Given the description of an element on the screen output the (x, y) to click on. 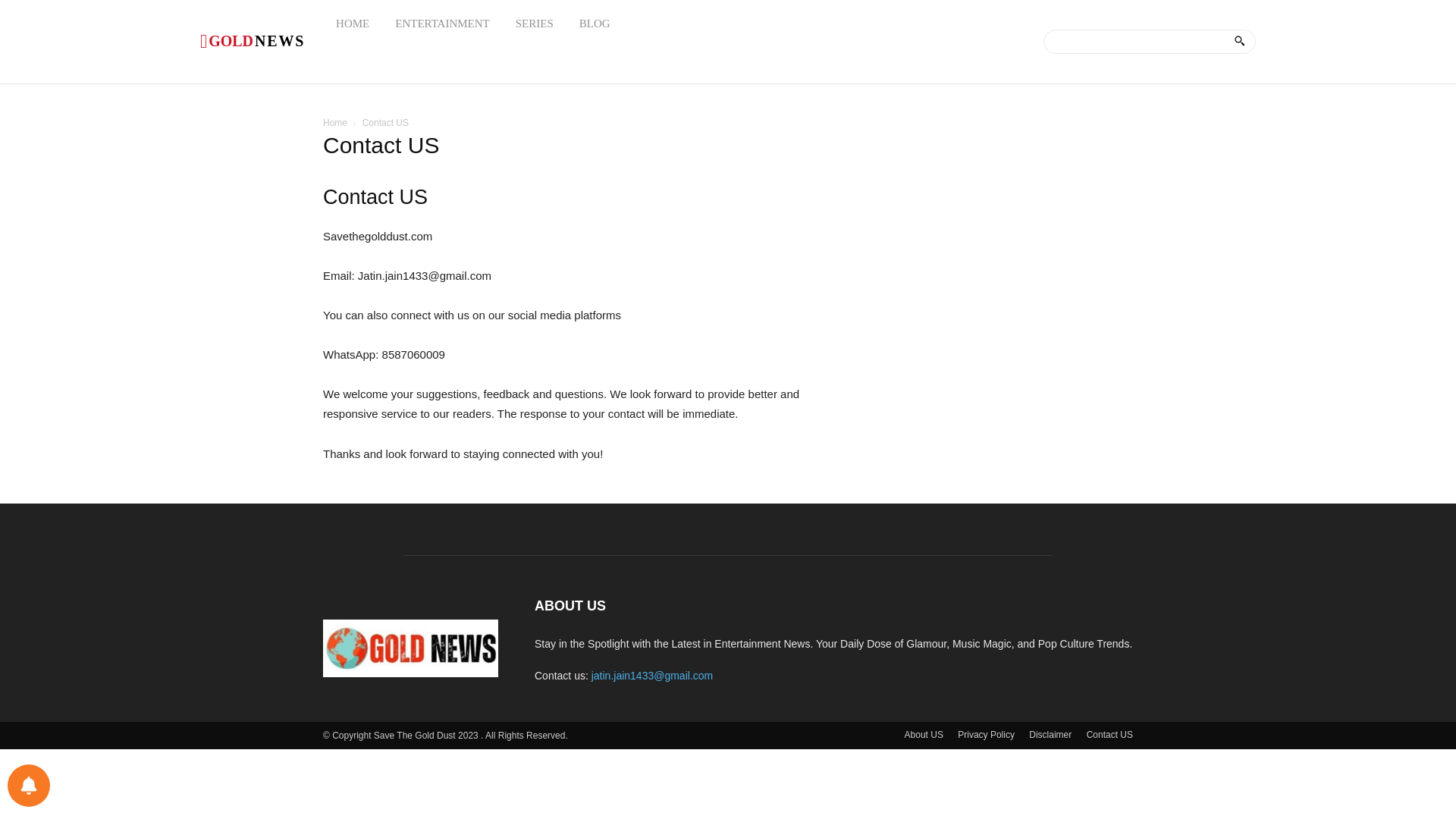
Home (335, 122)
SERIES (534, 23)
HOME (352, 23)
BLOG (594, 23)
Privacy Policy (986, 735)
Gold Dust (252, 40)
Contact US (410, 648)
ENTERTAINMENT (1109, 735)
Disclaimer (441, 23)
